Given the description of an element on the screen output the (x, y) to click on. 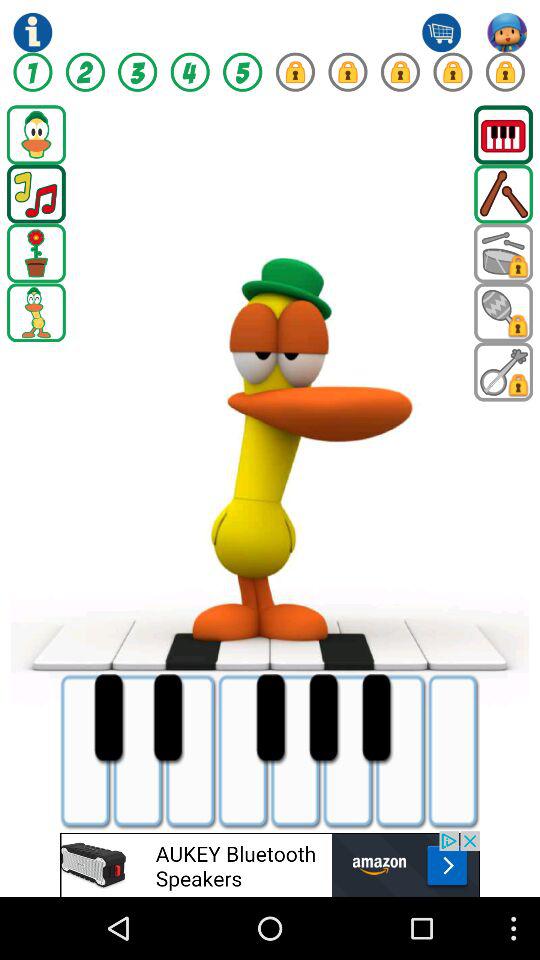
plant button (36, 253)
